Given the description of an element on the screen output the (x, y) to click on. 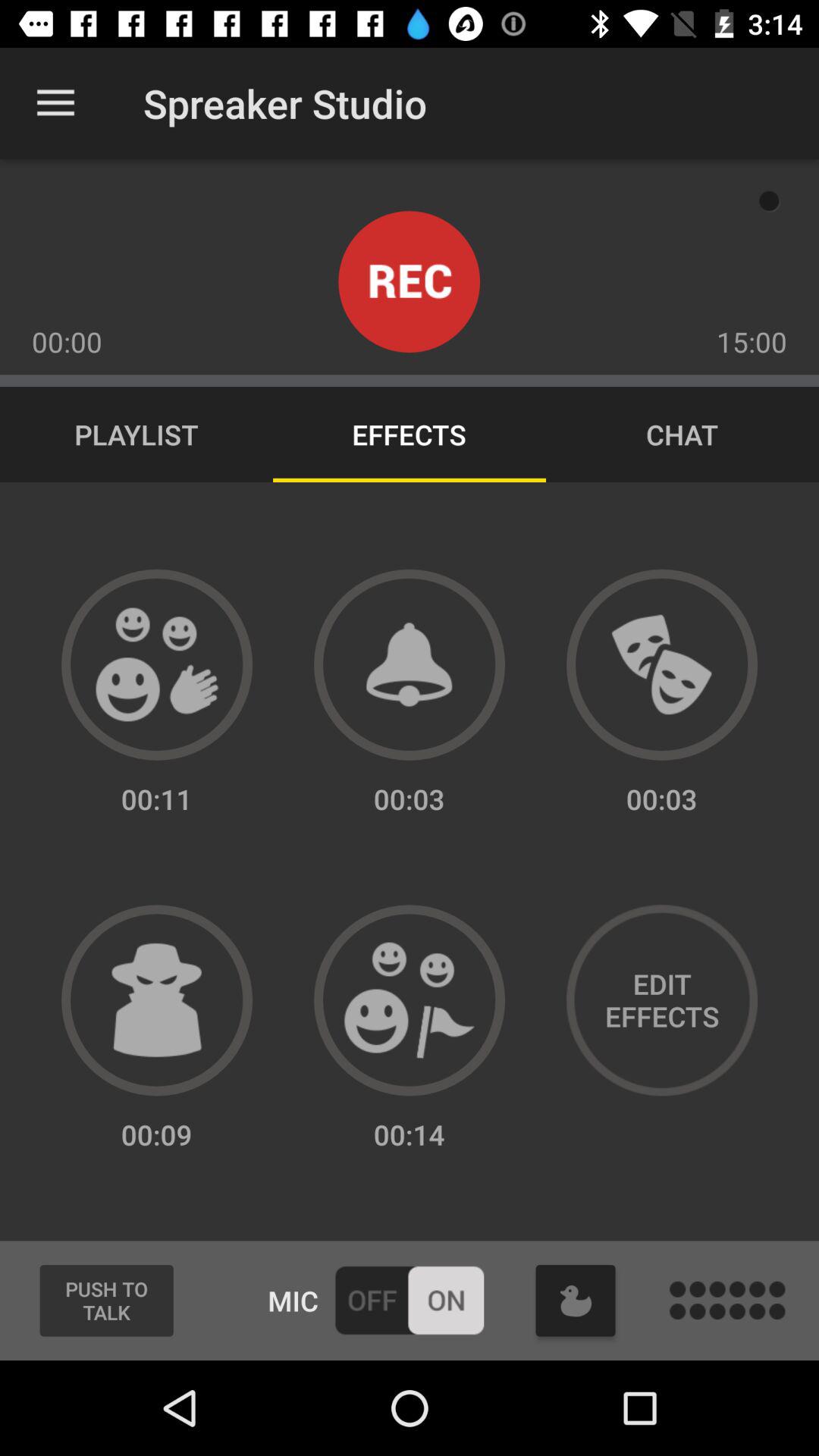
go to record (409, 281)
